Given the description of an element on the screen output the (x, y) to click on. 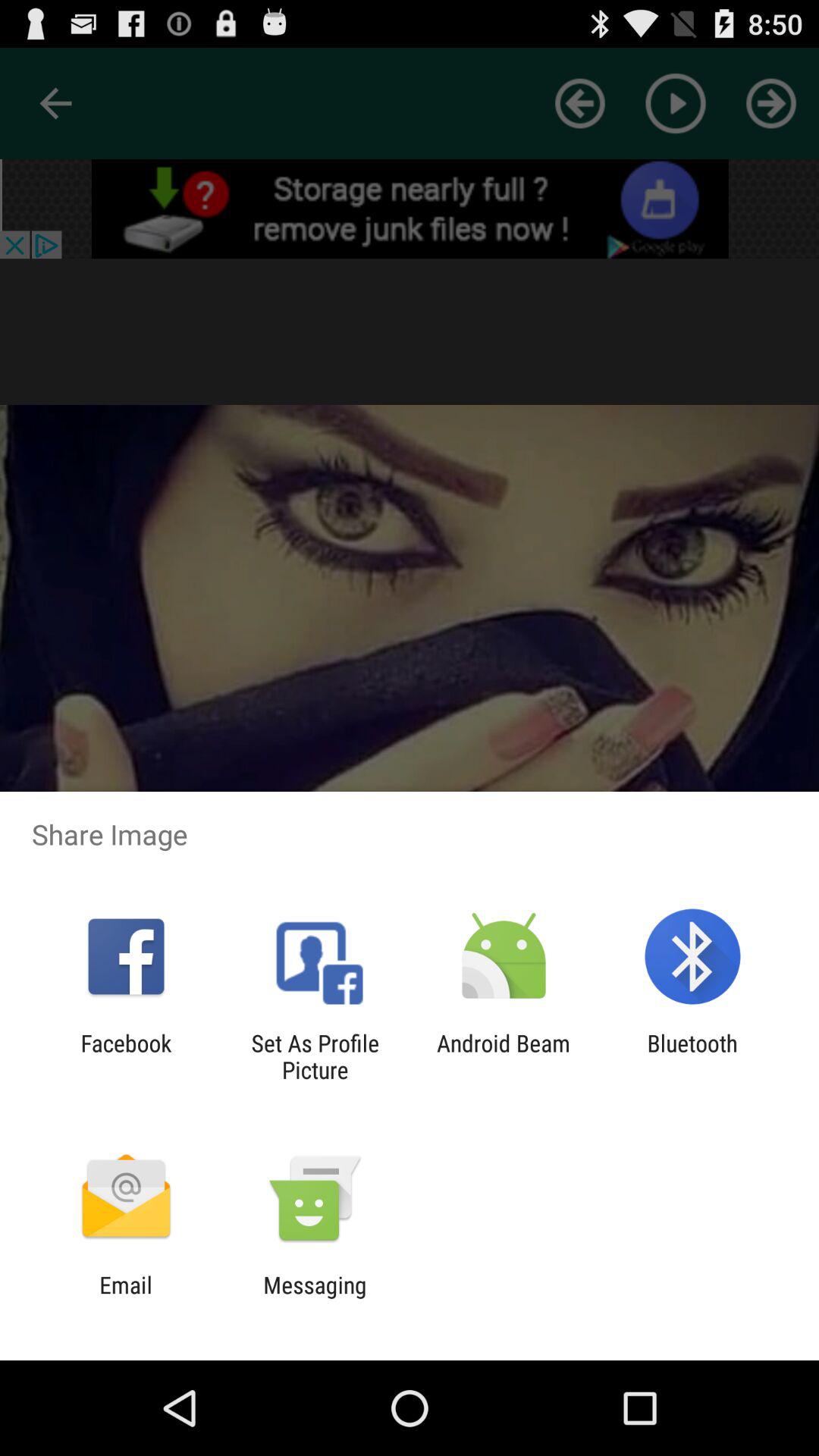
scroll until the facebook (125, 1056)
